Given the description of an element on the screen output the (x, y) to click on. 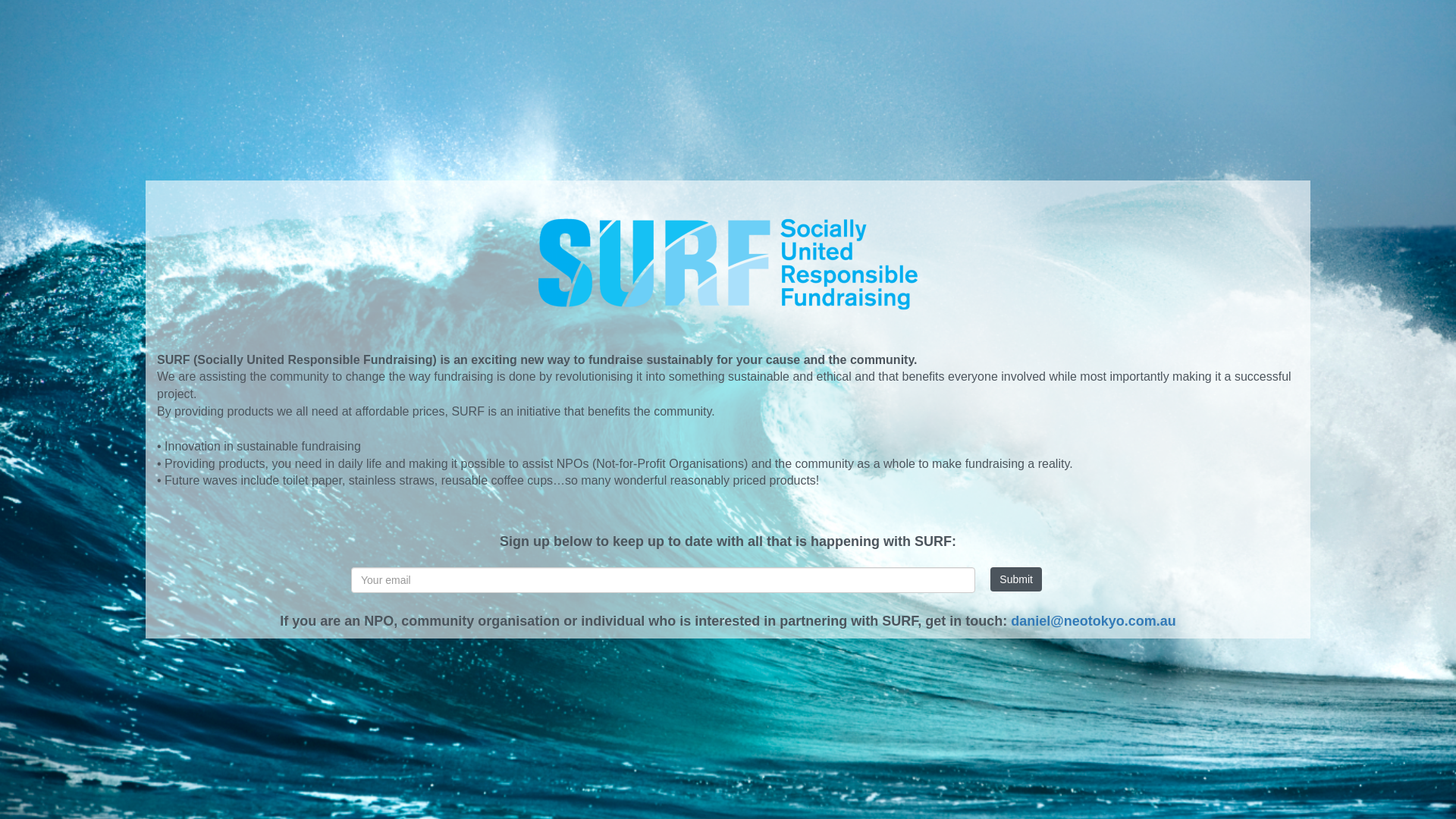
daniel@neotokyo.com.au Element type: text (1093, 620)
Submit Element type: text (1015, 579)
